Given the description of an element on the screen output the (x, y) to click on. 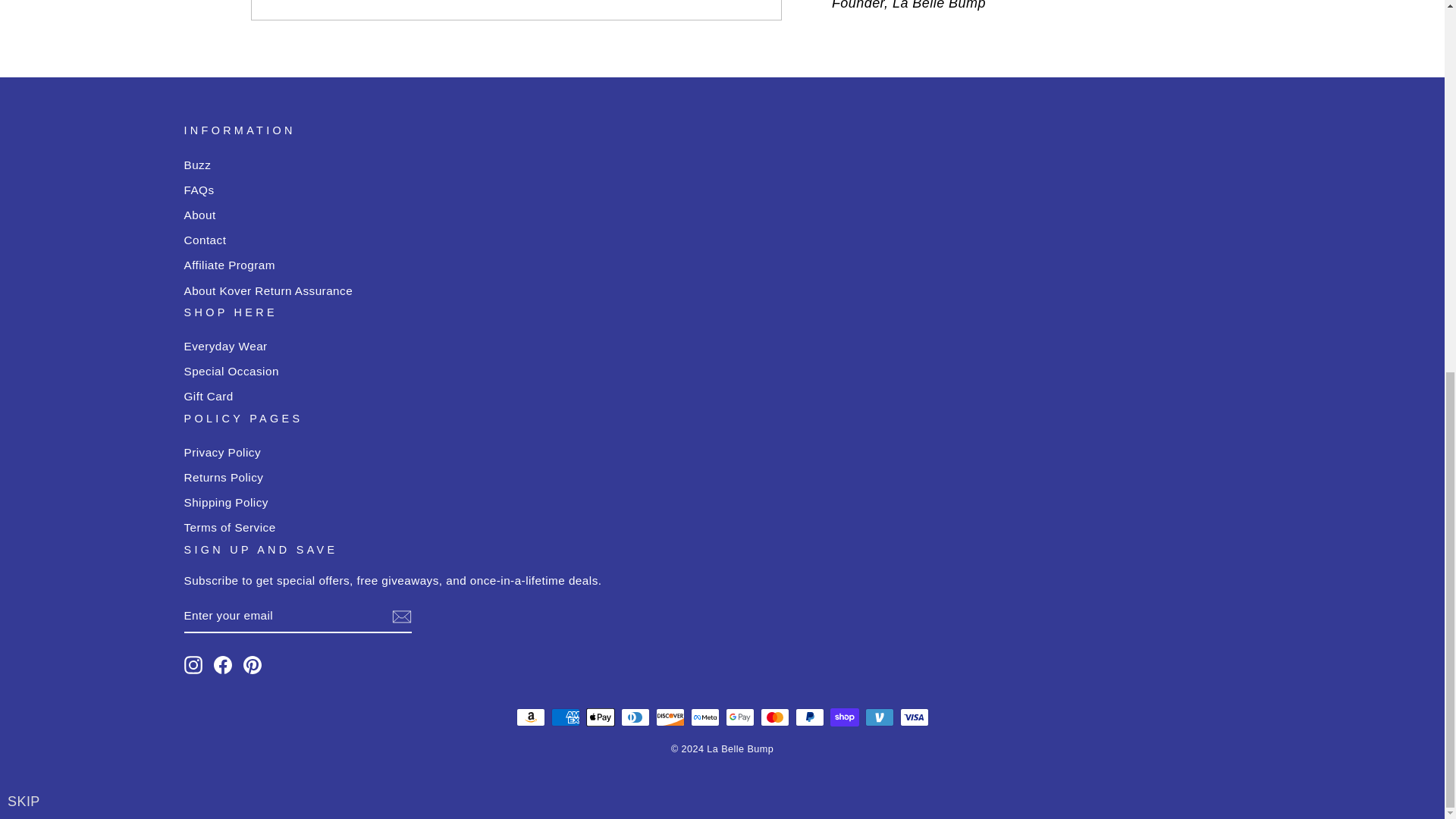
Shop Pay (844, 717)
Amazon (529, 717)
SKIP (23, 122)
American Express (564, 717)
Visa (913, 717)
La Belle Bump on Pinterest (251, 665)
Venmo (878, 717)
PayPal (809, 717)
Meta Pay (704, 717)
Mastercard (774, 717)
La Belle Bump on Facebook (222, 665)
Apple Pay (599, 717)
Diners Club (634, 717)
Discover (669, 717)
Google Pay (739, 717)
